Given the description of an element on the screen output the (x, y) to click on. 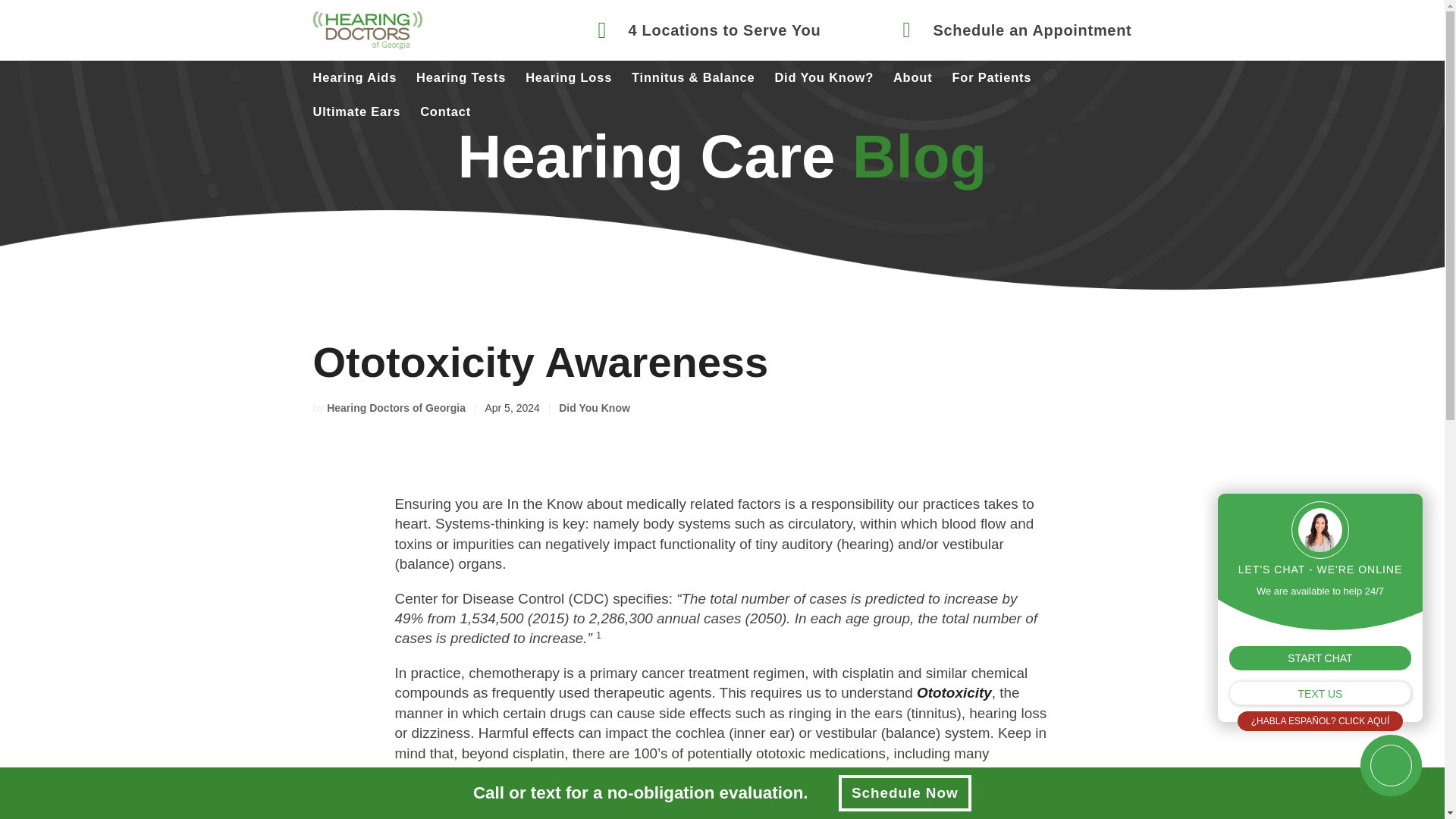
Posts by Hearing Doctors of Georgia (395, 408)
